Given the description of an element on the screen output the (x, y) to click on. 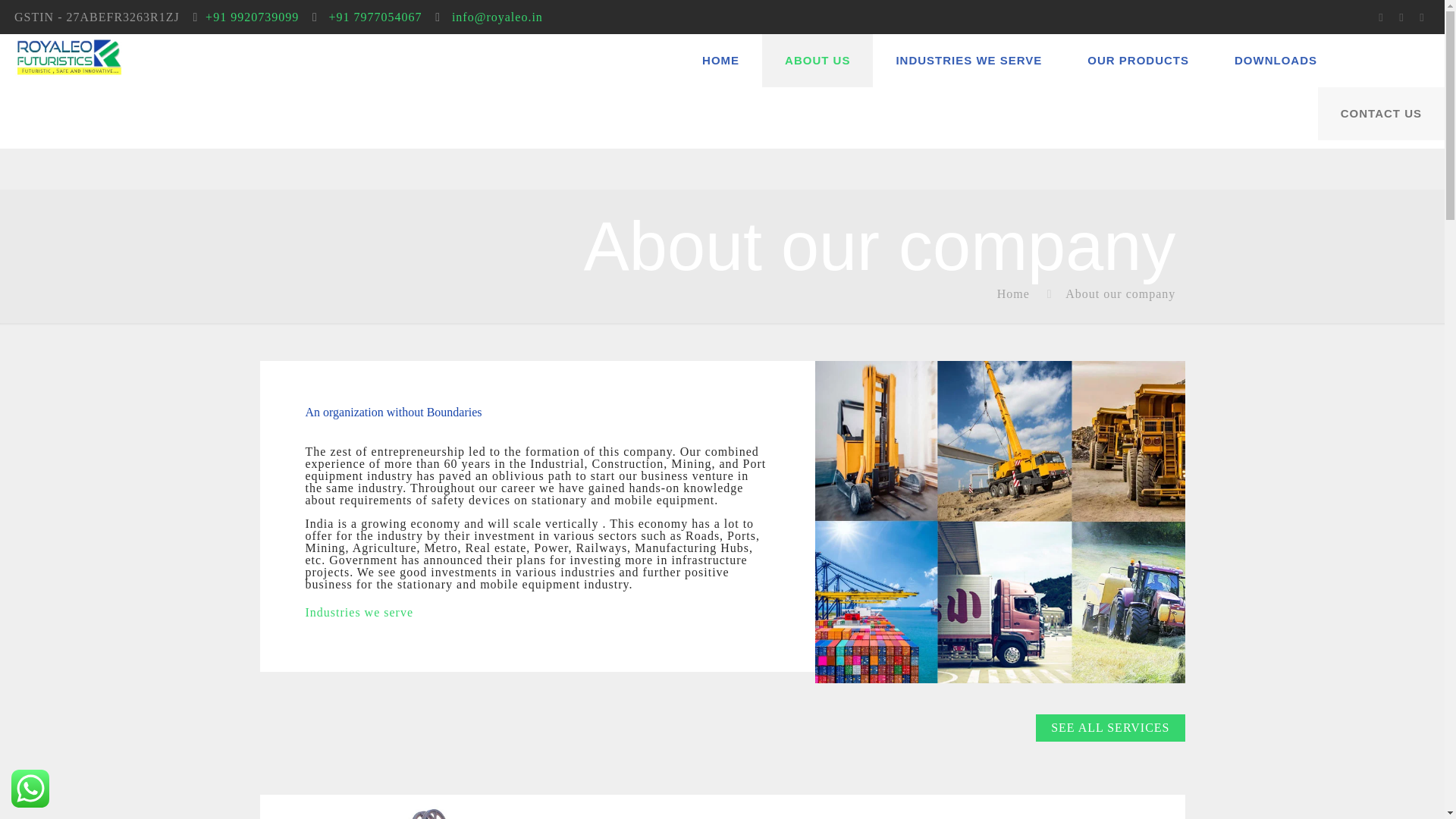
INDUSTRIES WE SERVE (968, 60)
ABOUT US (816, 60)
Facebook (1401, 17)
Instagram (1421, 17)
Industries we serve (358, 612)
HOME (720, 60)
DOWNLOADS (1275, 60)
OUR PRODUCTS (1137, 60)
WhatsApp (1381, 17)
Royaleo Futuristics (68, 56)
SEE ALL SERVICES (1110, 728)
Home (1013, 293)
